Given the description of an element on the screen output the (x, y) to click on. 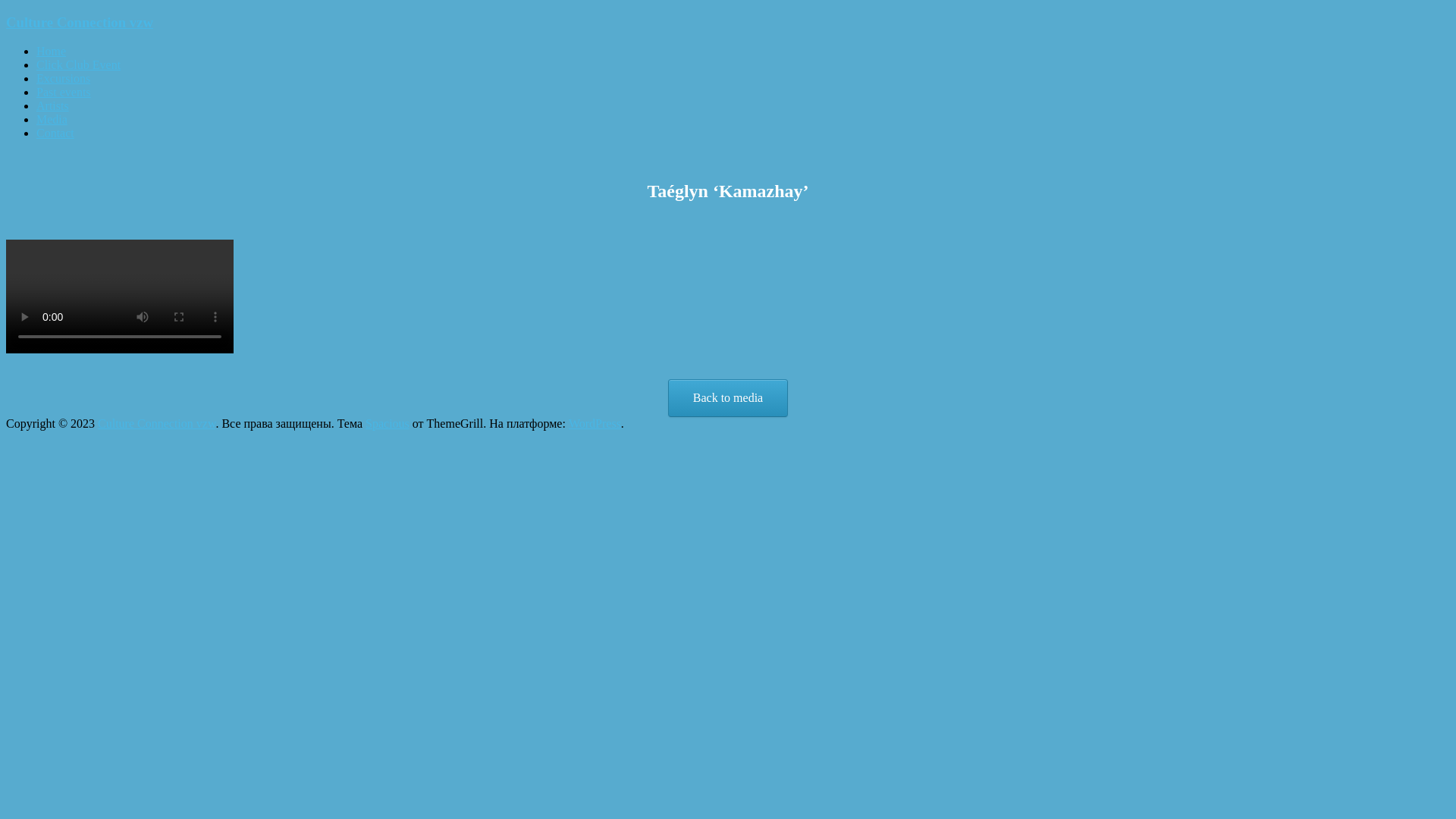
Contact Element type: text (55, 132)
Past events Element type: text (63, 91)
Spacious Element type: text (387, 423)
Excursions Element type: text (63, 78)
Artists Element type: text (52, 105)
Home Element type: text (50, 50)
Culture Connection vzw Element type: text (79, 22)
Back to media Element type: text (727, 398)
WordPress Element type: text (594, 423)
Click Club Event Element type: text (78, 64)
Media Element type: text (51, 118)
Culture Connection vzw Element type: text (156, 423)
